Given the description of an element on the screen output the (x, y) to click on. 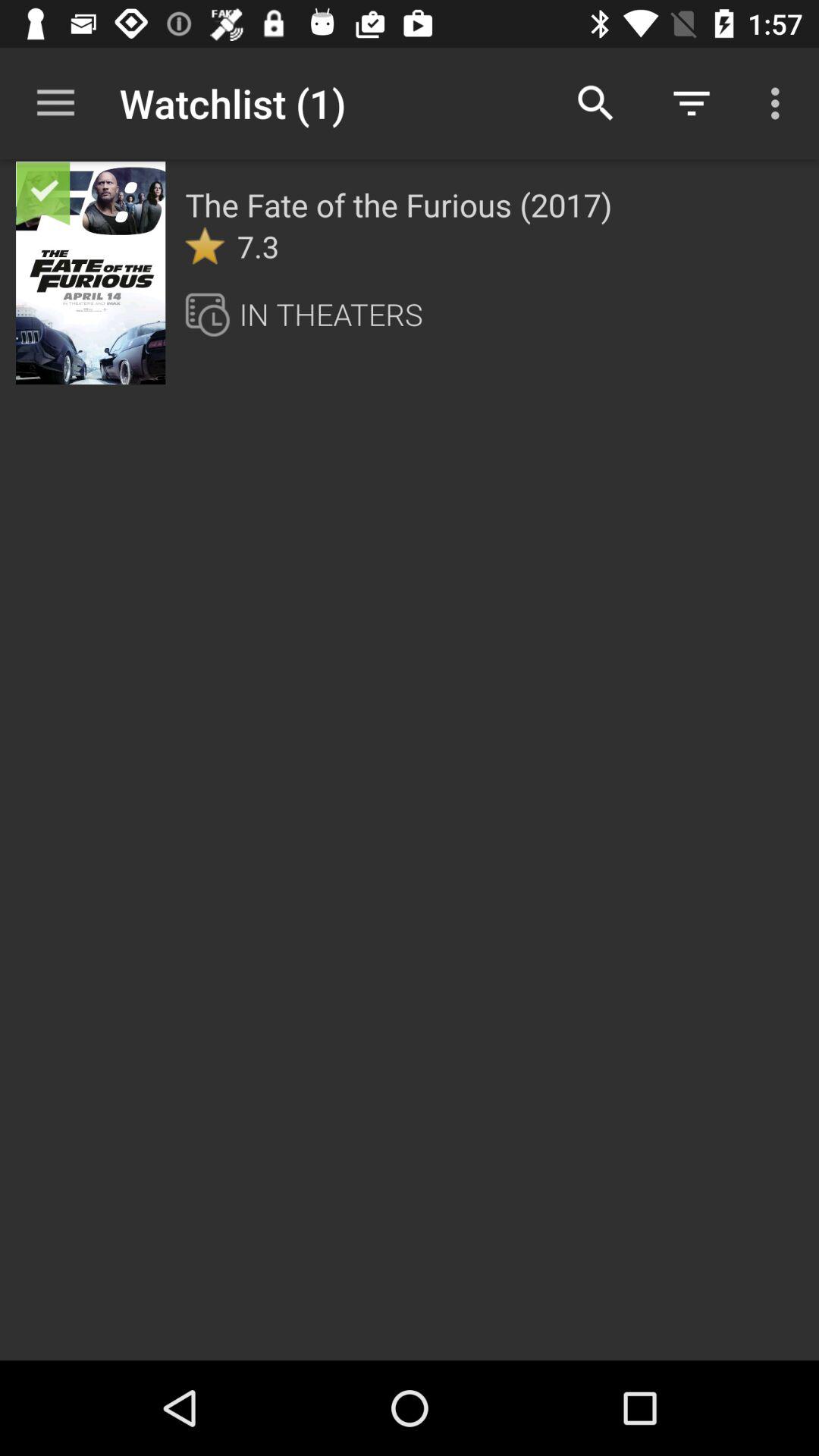
turn on 7.3 item (258, 246)
